Given the description of an element on the screen output the (x, y) to click on. 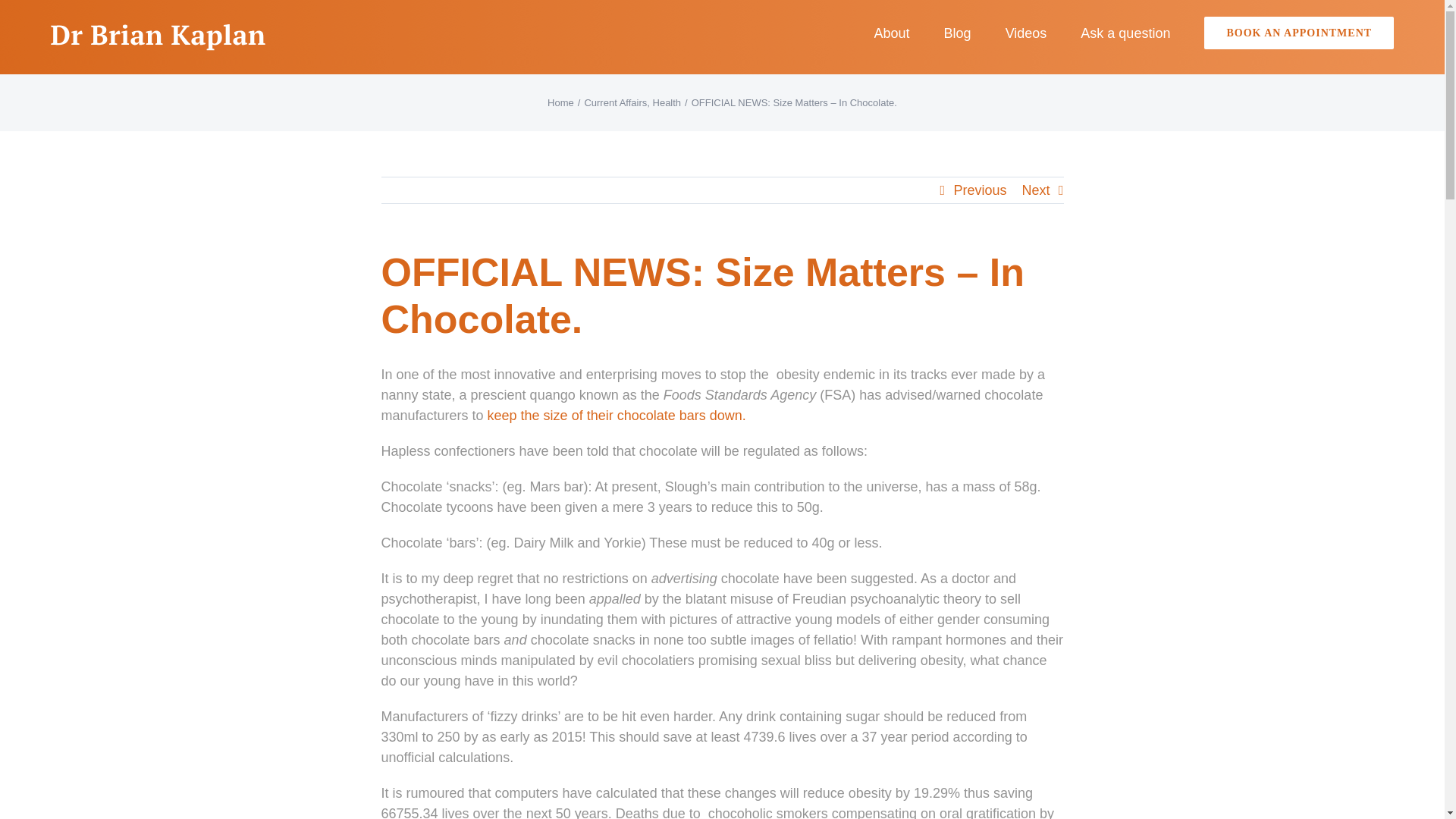
Previous (979, 190)
Next (1035, 190)
Health (666, 102)
BOOK AN APPOINTMENT (1298, 31)
Current Affairs (614, 102)
Ask a question (1125, 31)
Home (560, 102)
keep the size of their chocolate bars down. (616, 415)
